Given the description of an element on the screen output the (x, y) to click on. 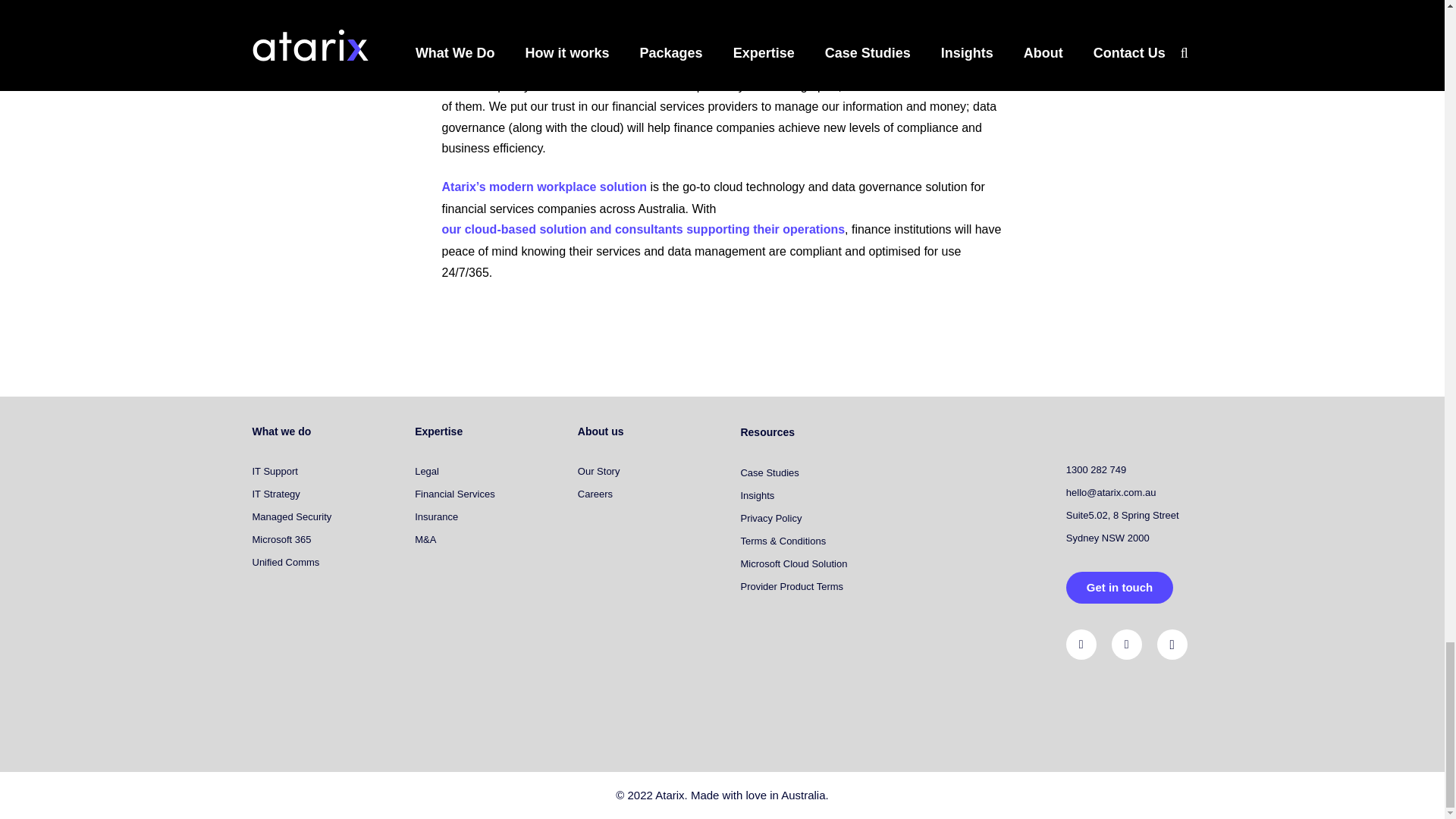
Contact Us (1119, 587)
Facebook (1126, 644)
Instagram (1172, 644)
LinkedIn (1080, 644)
